Given the description of an element on the screen output the (x, y) to click on. 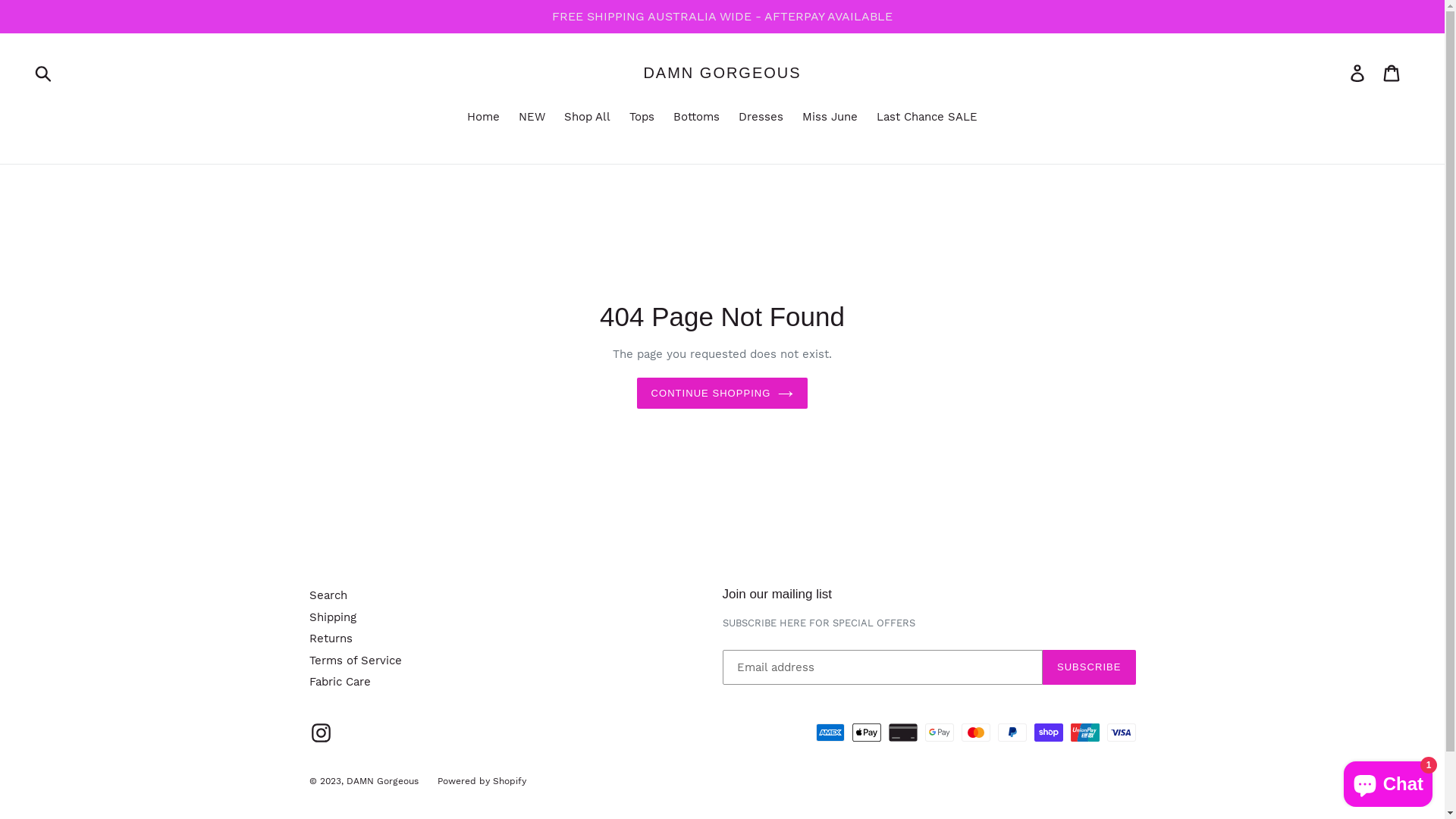
Bottoms Element type: text (696, 118)
Home Element type: text (483, 118)
Fabric Care Element type: text (339, 681)
SUBSCRIBE Element type: text (1088, 666)
Terms of Service Element type: text (355, 660)
Shopify online store chat Element type: hover (1388, 780)
NEW Element type: text (531, 118)
Log in Element type: text (1358, 72)
DAMN Gorgeous Element type: text (381, 780)
Last Chance SALE Element type: text (927, 118)
Dresses Element type: text (760, 118)
Shipping Element type: text (332, 617)
Powered by Shopify Element type: text (480, 780)
Submit Element type: text (43, 72)
DAMN GORGEOUS Element type: text (721, 72)
Returns Element type: text (330, 638)
Miss June Element type: text (829, 118)
Instagram Element type: text (320, 732)
Shop All Element type: text (587, 118)
Cart Element type: text (1392, 72)
CONTINUE SHOPPING Element type: text (722, 393)
Search Element type: text (328, 595)
Tops Element type: text (641, 118)
